Given the description of an element on the screen output the (x, y) to click on. 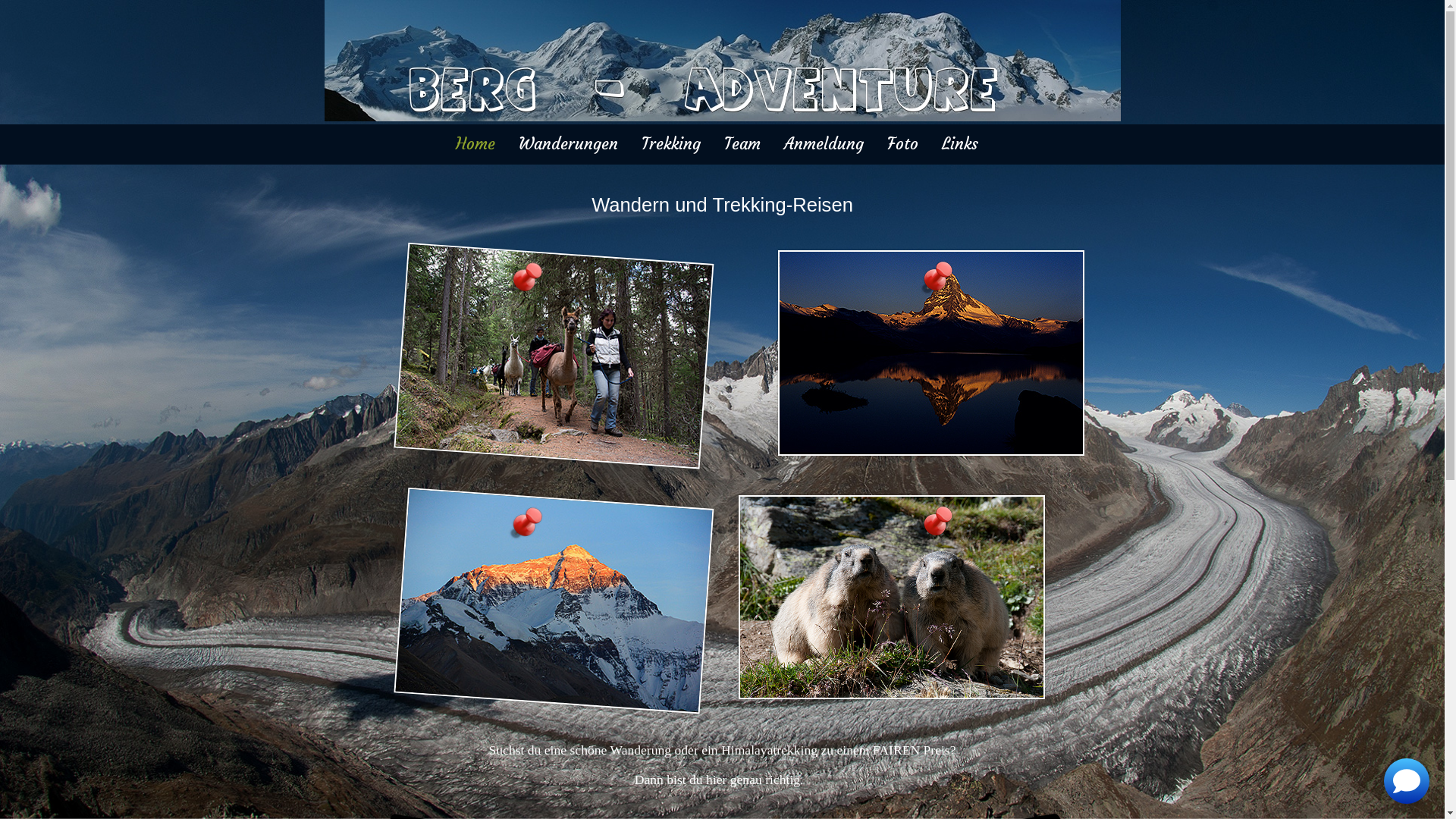
Foto Element type: text (902, 144)
Trekking Element type: text (670, 144)
Home Element type: text (474, 144)
Team Element type: text (741, 144)
Links Element type: text (959, 144)
Wanderungen Element type: text (568, 144)
Anmeldung Element type: text (823, 144)
